Given the description of an element on the screen output the (x, y) to click on. 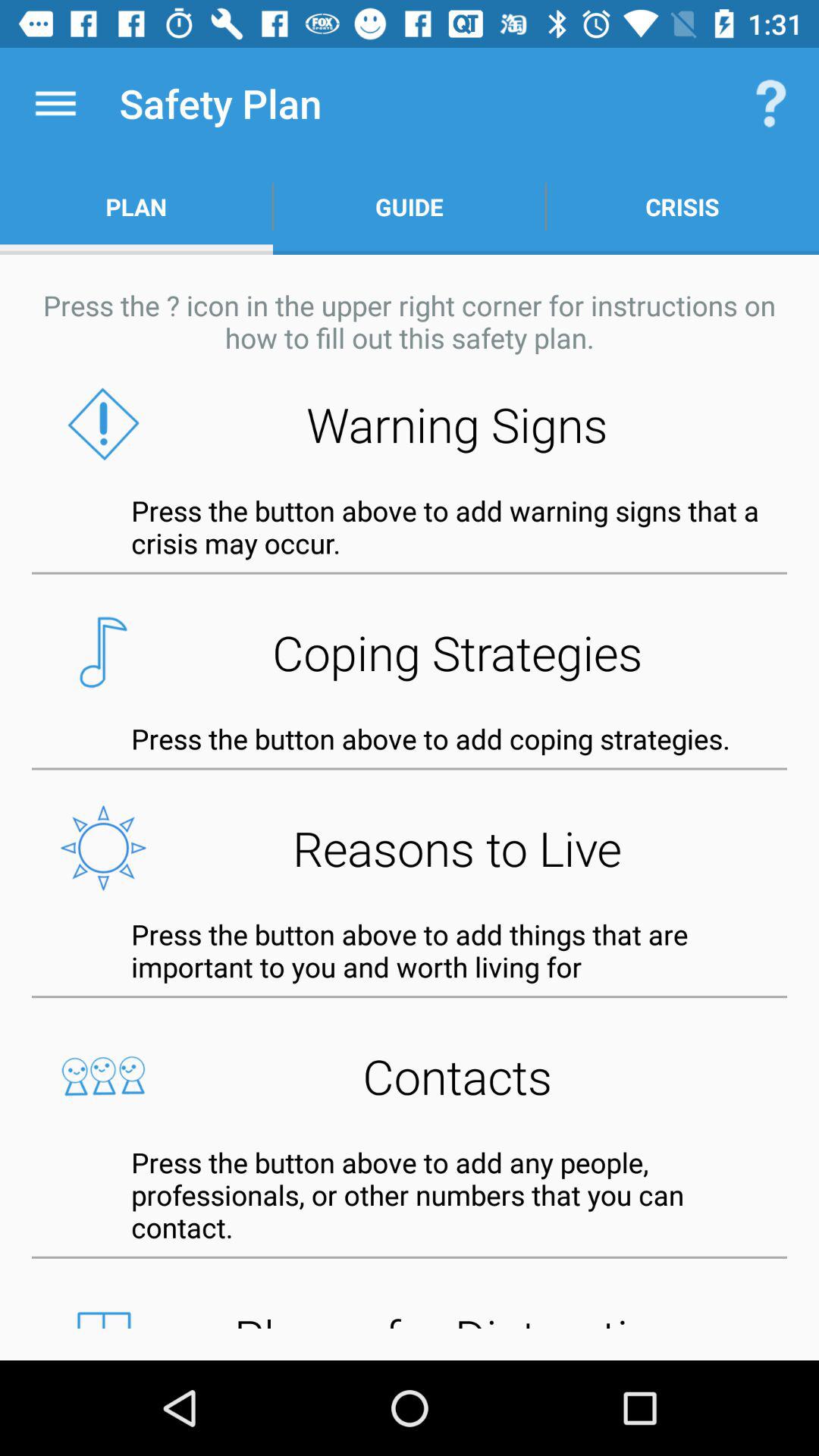
select the icon to the right of plan app (409, 206)
